Given the description of an element on the screen output the (x, y) to click on. 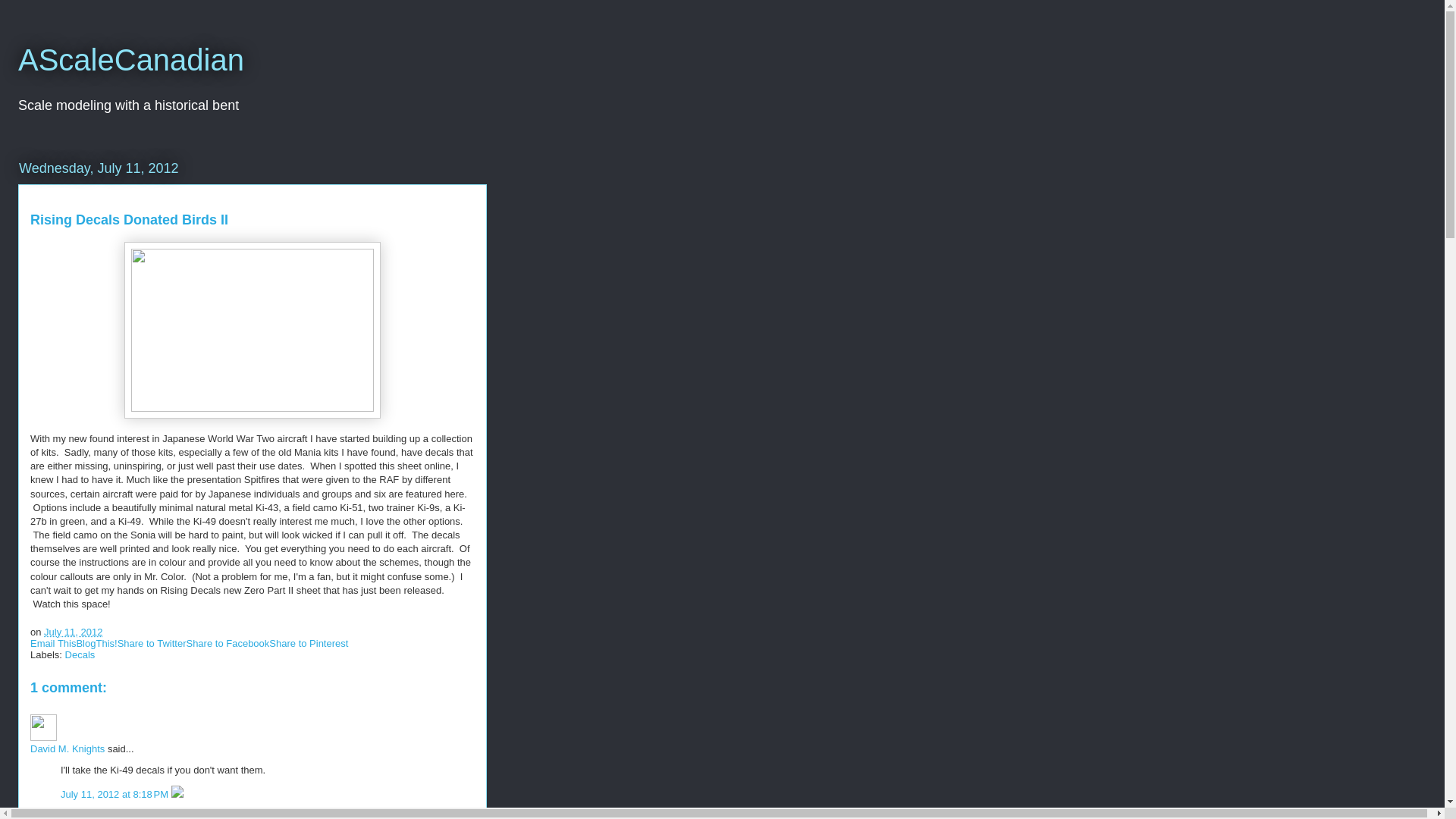
AScaleCanadian (130, 59)
Share to Twitter (151, 643)
Share to Twitter (151, 643)
Post a Comment (66, 814)
David M. Knights (67, 748)
Email This (52, 643)
BlogThis! (95, 643)
Share to Facebook (227, 643)
comment permalink (116, 794)
Share to Pinterest (308, 643)
Share to Facebook (227, 643)
BlogThis! (95, 643)
David M. Knights (43, 727)
Share to Pinterest (308, 643)
July 11, 2012 (72, 632)
